Given the description of an element on the screen output the (x, y) to click on. 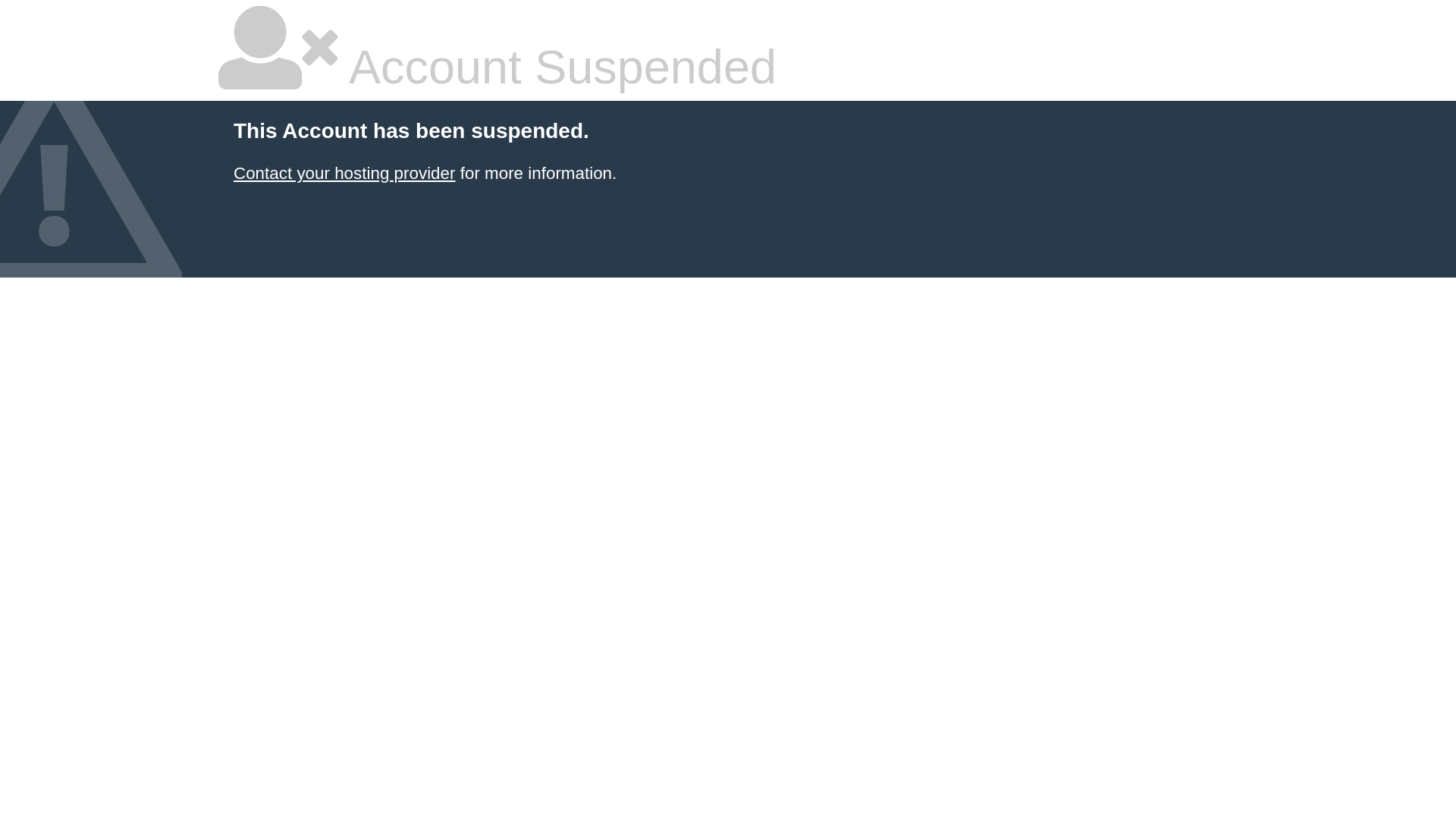
Contact your hosting provider Element type: text (344, 172)
